Given the description of an element on the screen output the (x, y) to click on. 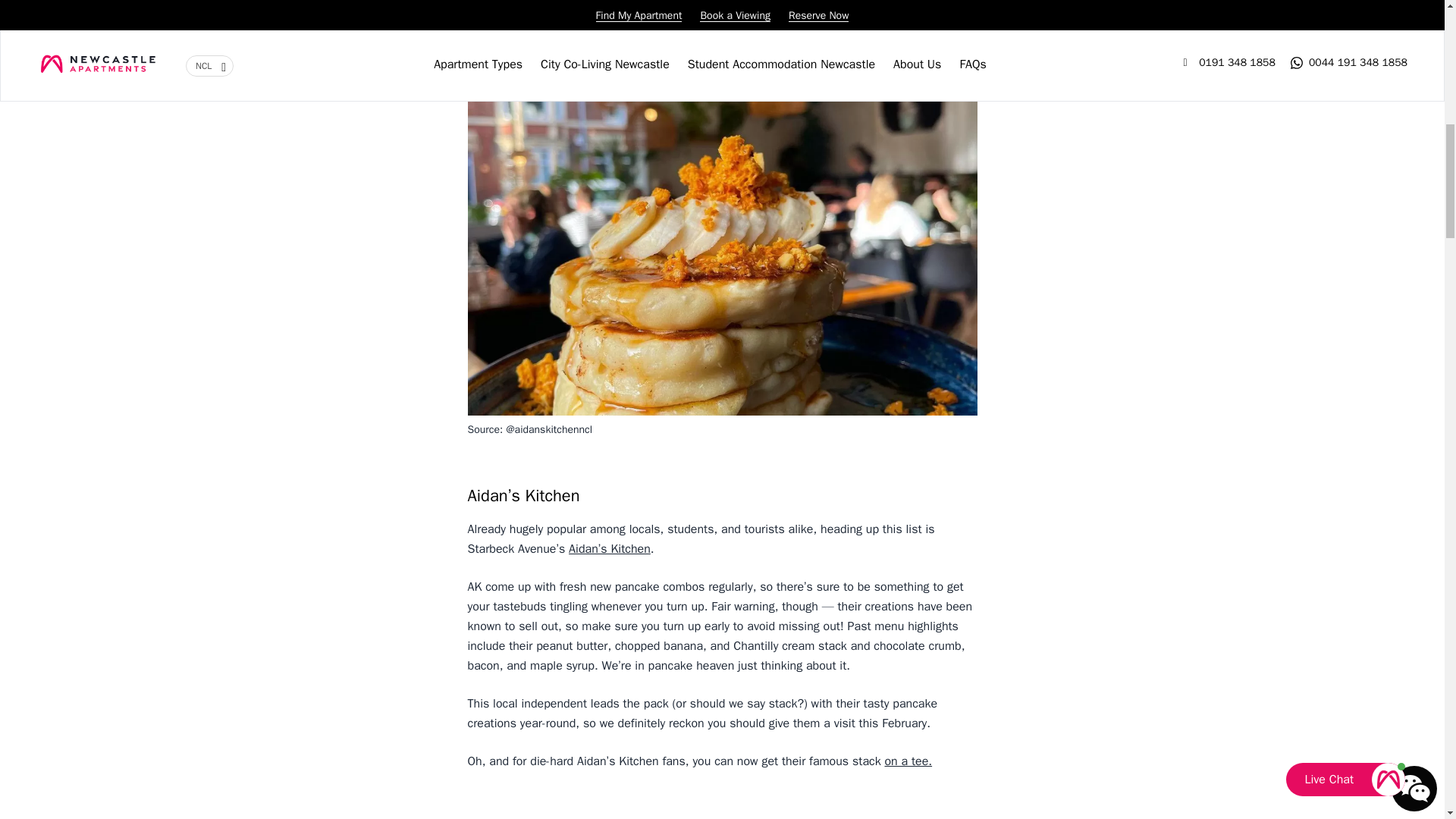
on a tee. (907, 761)
